Given the description of an element on the screen output the (x, y) to click on. 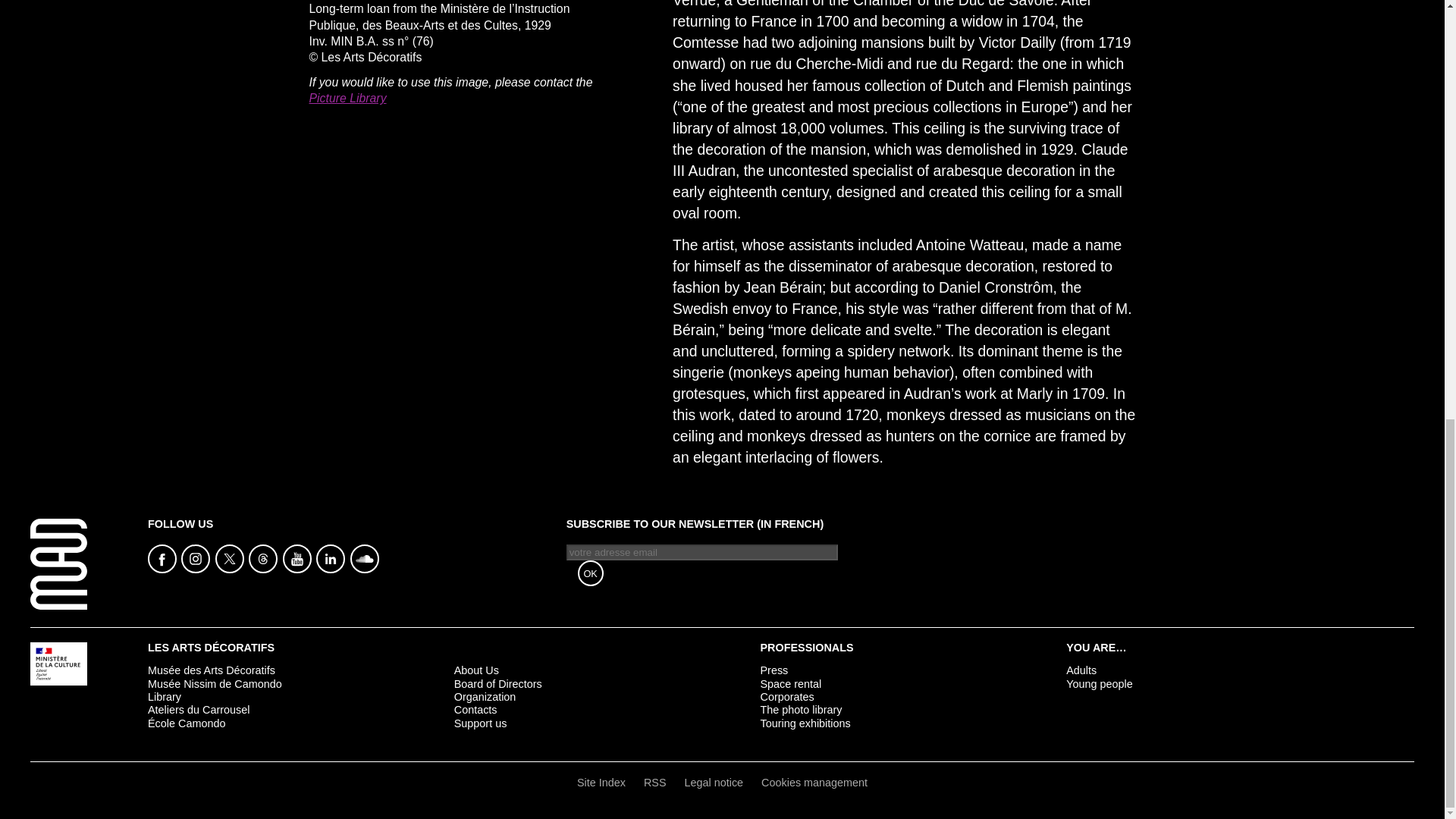
OK (591, 573)
